Given the description of an element on the screen output the (x, y) to click on. 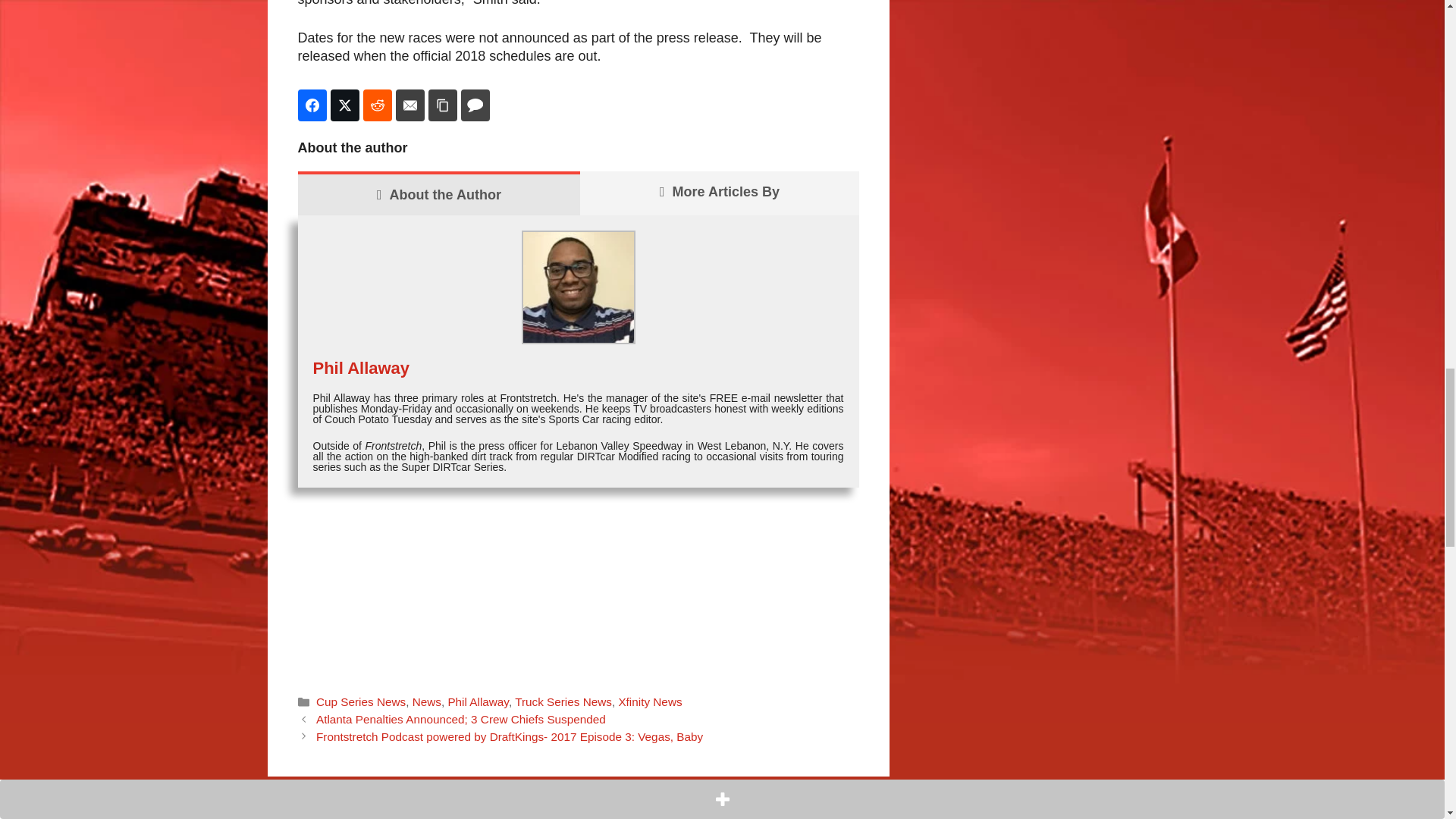
Cup Series News (360, 701)
Share on Facebook (311, 105)
Share on Copy Link (442, 105)
Share on Comments (475, 105)
Truck Series News (563, 701)
Share on Twitter (344, 105)
Phil Allaway (477, 701)
Share on Reddit (376, 105)
Share on Email (410, 105)
Phil Allaway (361, 367)
